Given the description of an element on the screen output the (x, y) to click on. 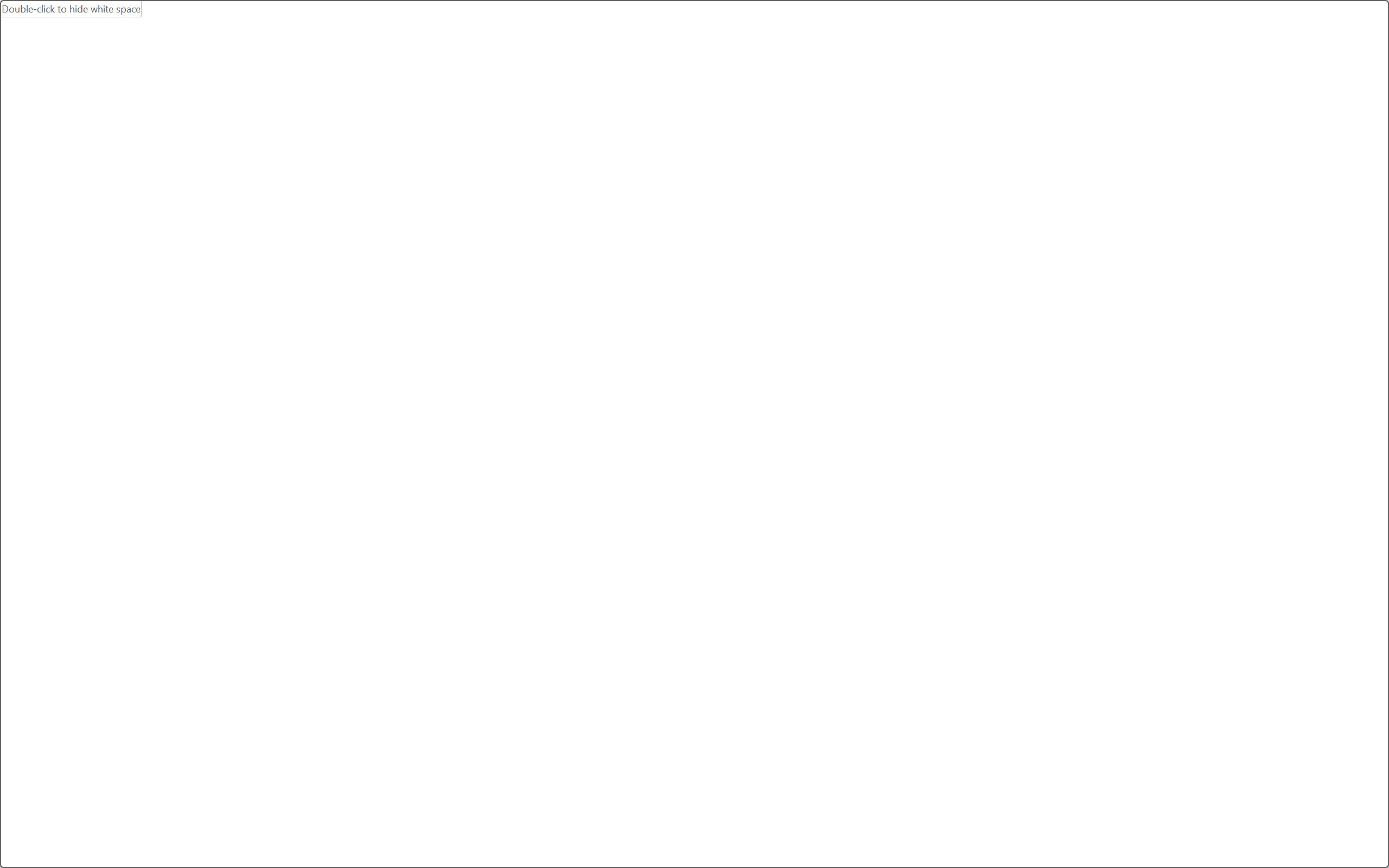
Character Shading (334, 108)
Class: NetUIScrollBar (1382, 477)
Heading 1 (839, 96)
Class: MsoCommandBar (694, 819)
Shading RGB(0, 0, 0) (533, 108)
volcanoes (706, 546)
Zoom 95% (1372, 819)
Font... (365, 136)
surface water (662, 448)
ocean world (794, 433)
Font Color Red (302, 108)
